Given the description of an element on the screen output the (x, y) to click on. 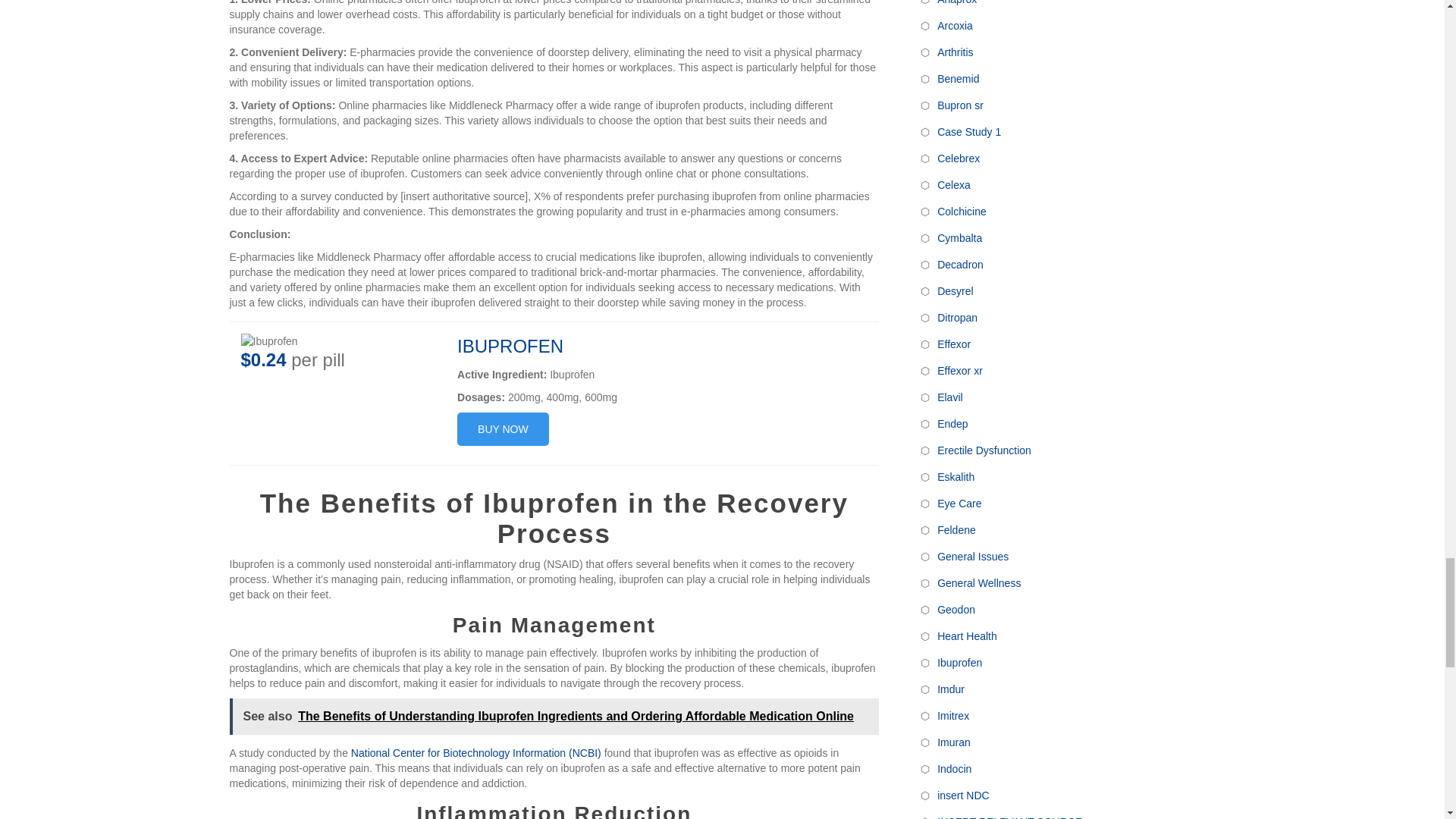
BUY NOW (502, 428)
